Given the description of an element on the screen output the (x, y) to click on. 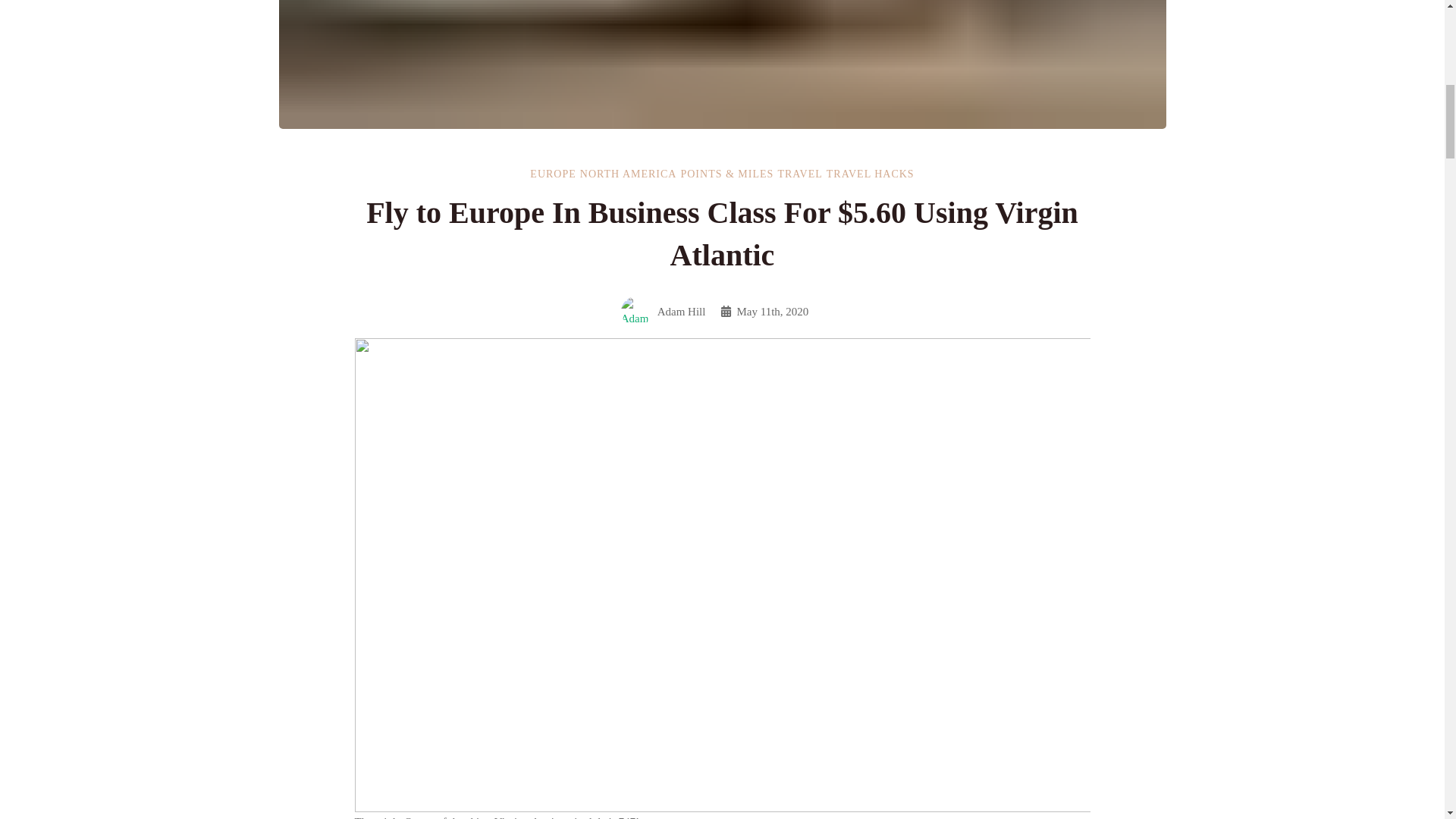
EUROPE (552, 174)
May 11th, 2020 (764, 311)
Adam Hill (663, 311)
NORTH AMERICA (628, 174)
TRAVEL HACKS (870, 174)
TRAVEL (799, 174)
